Given the description of an element on the screen output the (x, y) to click on. 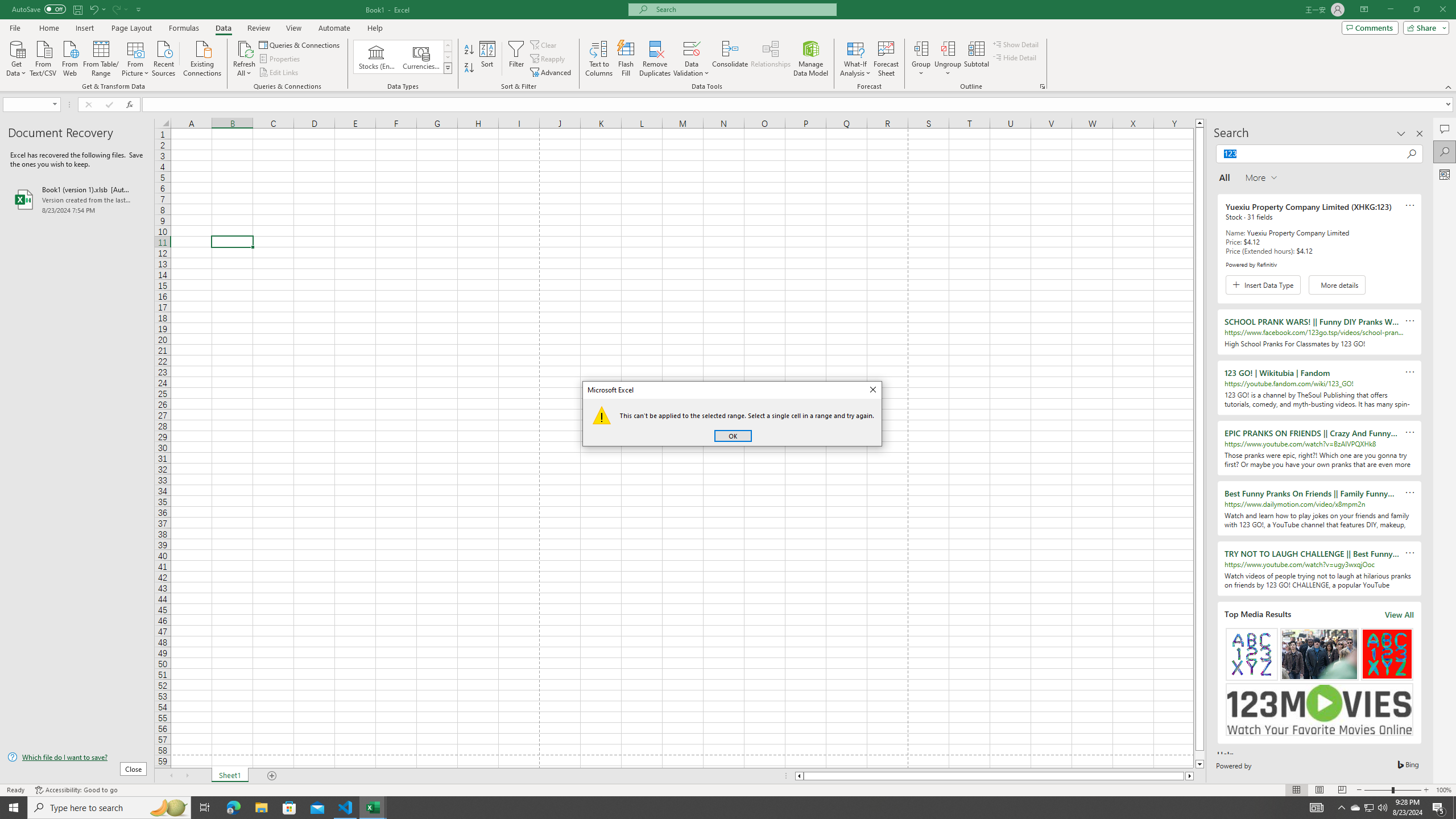
Flash Fill (625, 58)
Properties (280, 58)
Start (13, 807)
Insert (83, 28)
File Explorer (261, 807)
Advanced... (551, 72)
Remove Duplicates (654, 58)
Microsoft search (742, 9)
Running applications (717, 807)
Class: NetUIImage (447, 68)
Class: MsoCommandBar (728, 45)
Redo (115, 9)
Save (77, 9)
Review (258, 28)
Sheet1 (229, 775)
